Given the description of an element on the screen output the (x, y) to click on. 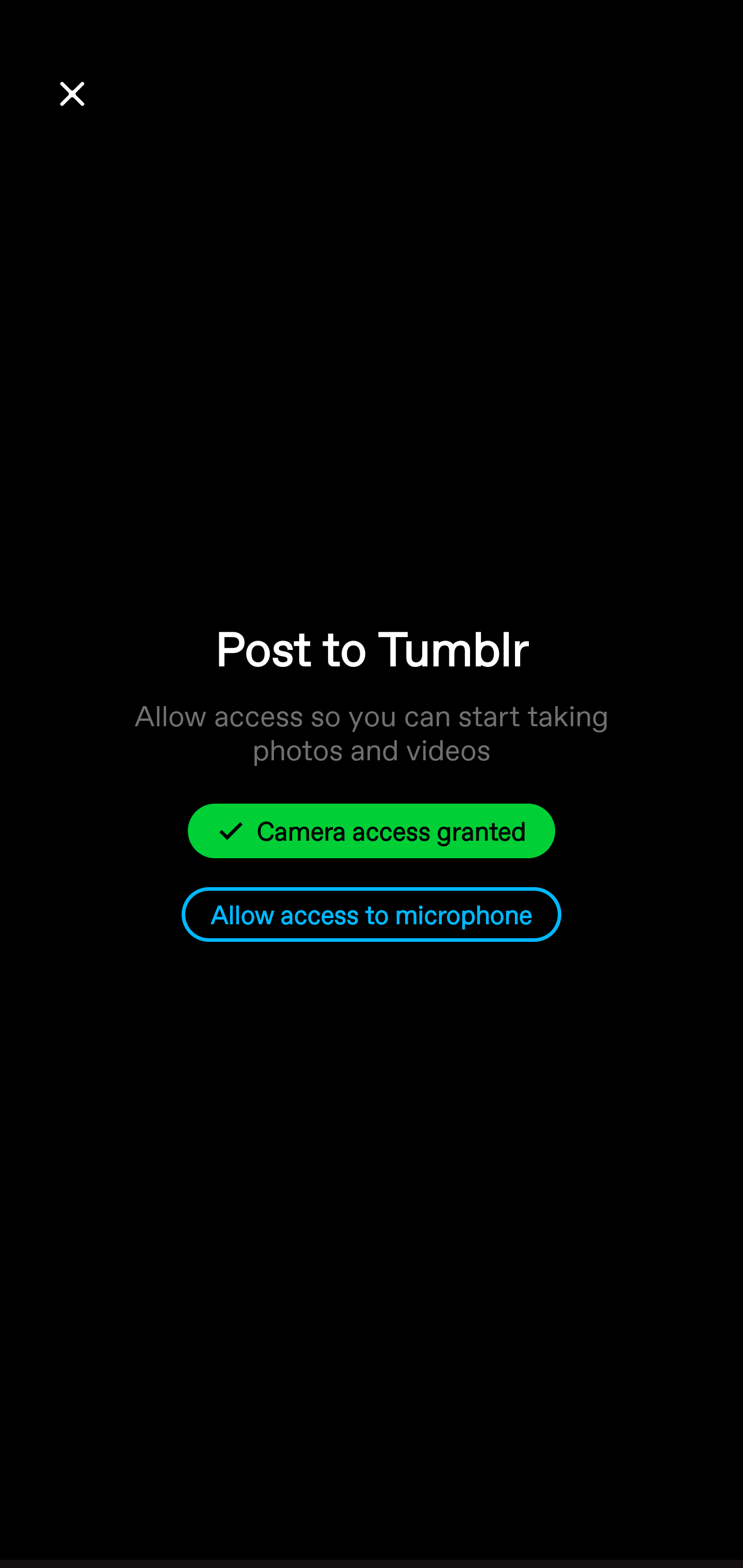
Camera access granted (371, 829)
Allow access to microphone (371, 914)
